Given the description of an element on the screen output the (x, y) to click on. 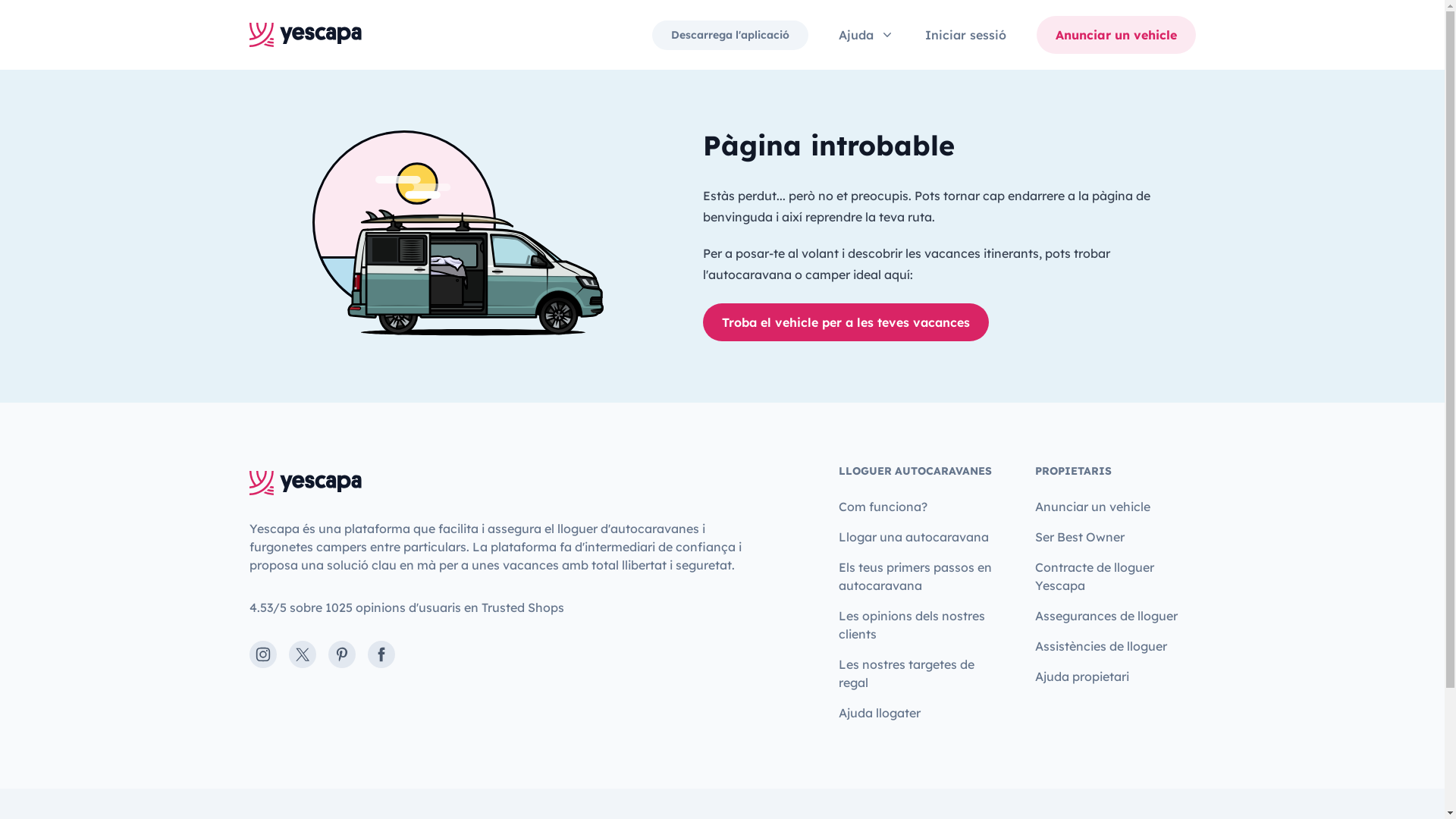
Contracte de lloguer Yescapa Element type: text (1115, 576)
Anunciar un vehicle Element type: text (1115, 34)
Llogar una autocaravana Element type: text (913, 536)
Les nostres targetes de regal Element type: text (918, 673)
Anunciar un vehicle Element type: text (1092, 506)
Com funciona? Element type: text (882, 506)
Ser Best Owner Element type: text (1079, 536)
Les opinions dels nostres clients Element type: text (918, 624)
Ajuda llogater Element type: text (879, 712)
Instagram Element type: text (262, 654)
Assegurances de lloguer Element type: text (1106, 615)
Ajuda propietari Element type: text (1082, 676)
Ajuda Element type: text (866, 34)
Els teus primers passos en autocaravana Element type: text (918, 576)
X Element type: text (301, 654)
Pinterest Element type: text (340, 654)
Facebook Element type: text (380, 654)
Troba el vehicle per a les teves vacances Element type: text (845, 322)
4.53/5 sobre 1025 opinions d'usuaris en Trusted Shops Element type: text (405, 607)
